Given the description of an element on the screen output the (x, y) to click on. 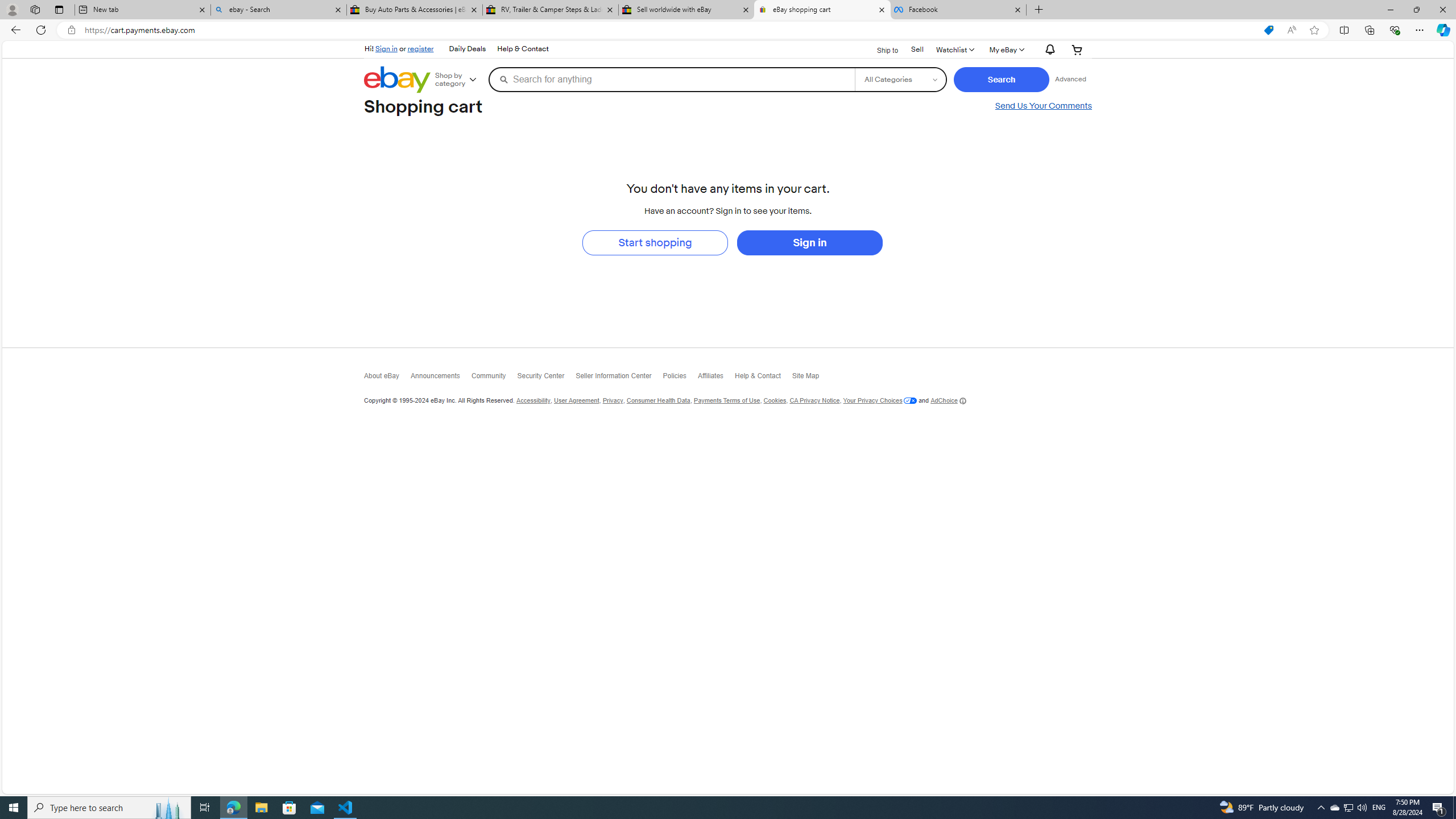
Sell worldwide with eBay (685, 9)
Consumer Health Data (658, 400)
My eBayExpand My eBay (1005, 49)
Your Privacy Choices (880, 400)
Send Us Your Comments - opens in new window or tab (1043, 105)
AutomationID: gh-minicart-hover (1077, 49)
Watchlist (953, 49)
Site Map (811, 377)
My eBay (1005, 49)
Buy Auto Parts & Accessories | eBay (414, 9)
Payments Terms of Use (726, 400)
WatchlistExpand Watch List (953, 49)
